Given the description of an element on the screen output the (x, y) to click on. 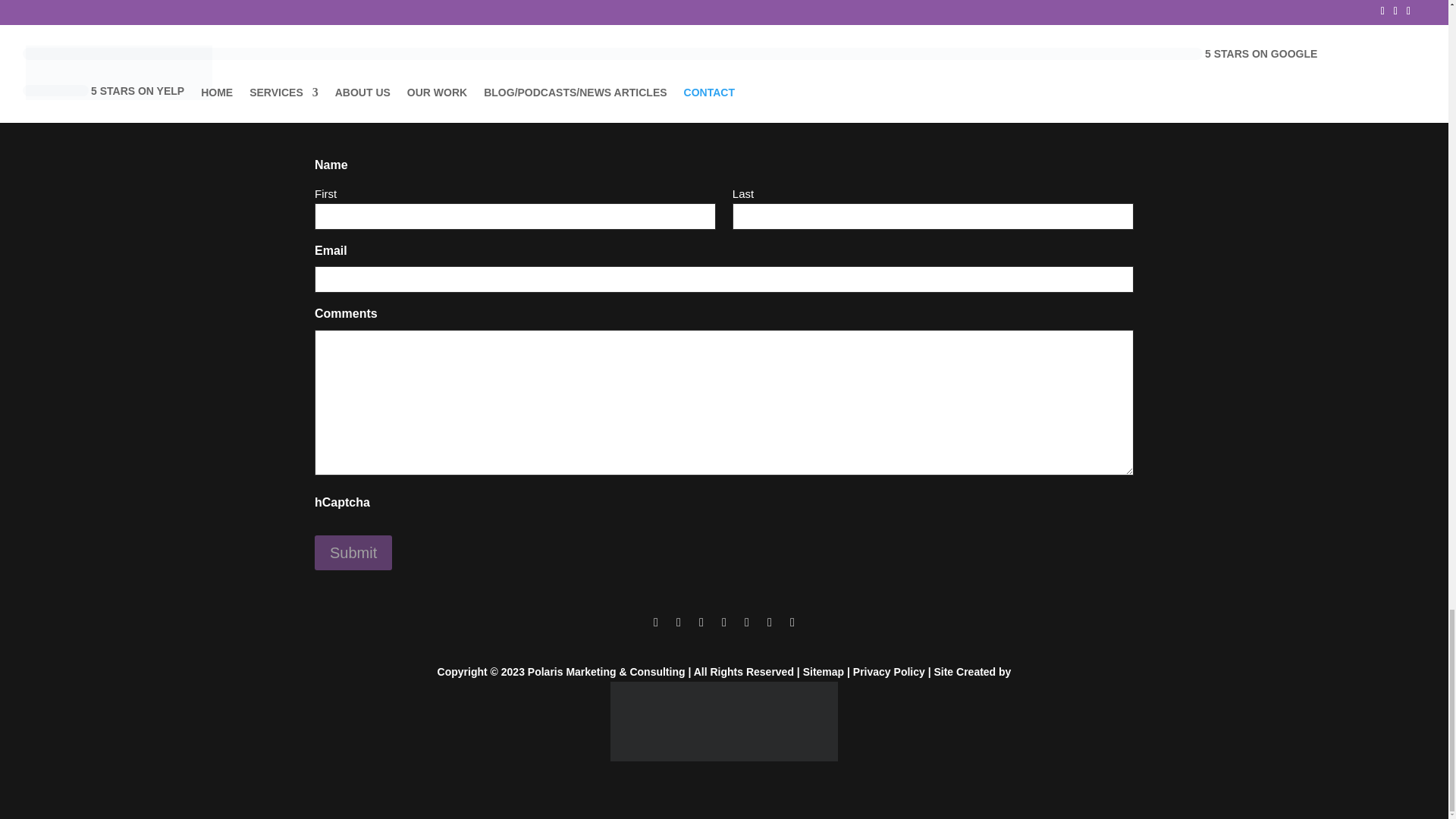
Follow on Instagram (700, 622)
Follow on LinkedIn (769, 622)
Follow on Facebook (655, 622)
Follow on Google (746, 622)
Follow on Youtube (792, 622)
Submit (352, 552)
Follow on X (678, 622)
Follow on Yelp (723, 622)
